Given the description of an element on the screen output the (x, y) to click on. 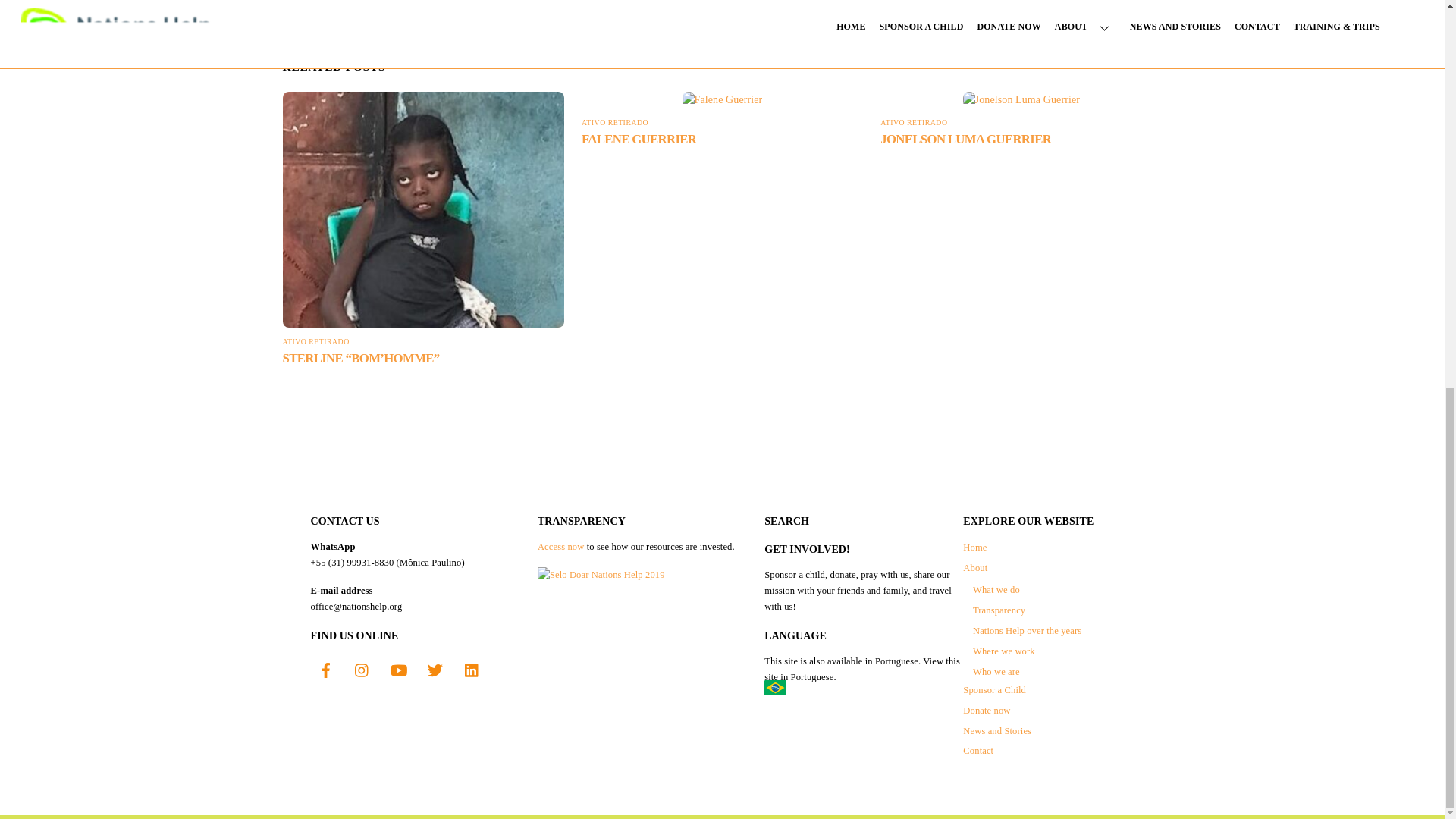
Sponsor a Child (994, 689)
What we do (996, 589)
ATIVO RETIRADO (613, 121)
ATIVO RETIRADO (913, 121)
Where we work (1003, 651)
News and Stories (996, 730)
Falene Guerrier (722, 99)
Contact (977, 750)
Fransia Mede (499, 4)
FALENE GUERRIER (637, 138)
Nations Help over the years (1026, 630)
ATIVO RETIRADO (315, 341)
JONELSON LUMA GUERRIER (965, 138)
About (974, 567)
Who we are (996, 671)
